Given the description of an element on the screen output the (x, y) to click on. 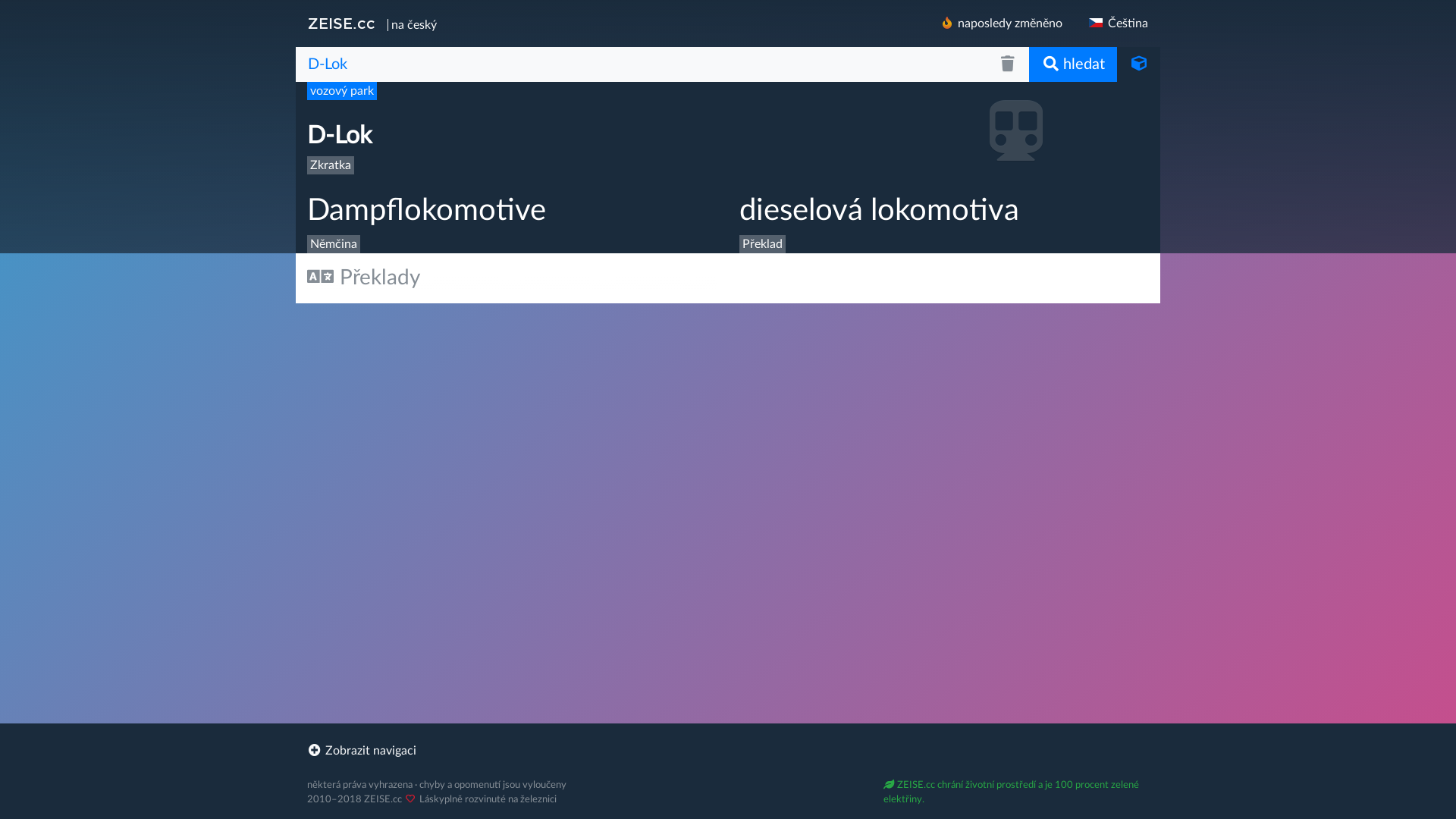
Zobrazit navigaci Element type: text (727, 750)
hledat Element type: text (1073, 64)
ZEISE.cc Element type: text (341, 23)
